Given the description of an element on the screen output the (x, y) to click on. 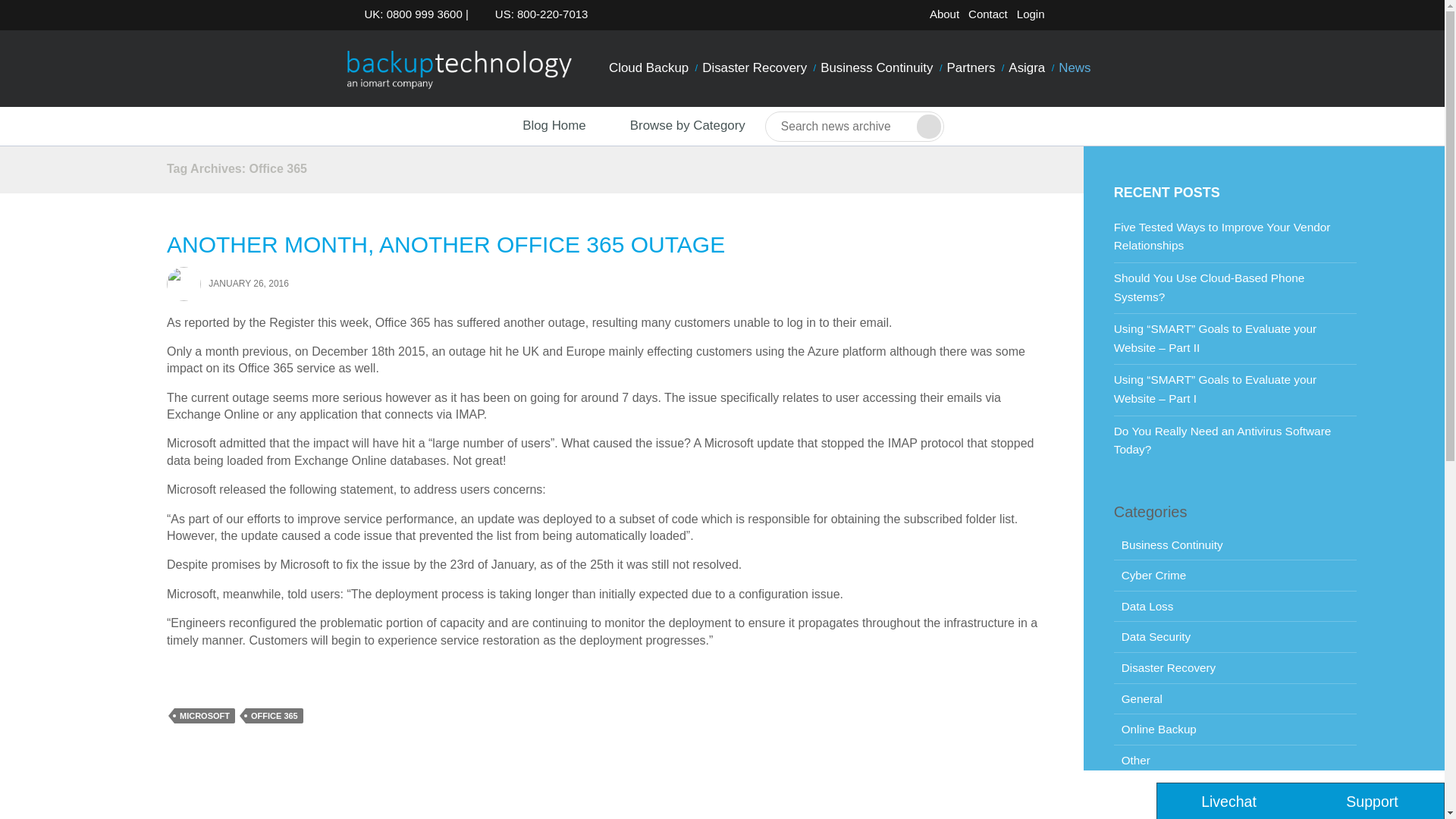
Facebook (1088, 17)
twitter (1064, 17)
Browse by Category (675, 126)
View all posts by Kris Price. (183, 282)
Login (1030, 14)
Blog Home (539, 126)
About (943, 14)
Asigra (1026, 68)
Search (928, 126)
Partners (971, 68)
